Given the description of an element on the screen output the (x, y) to click on. 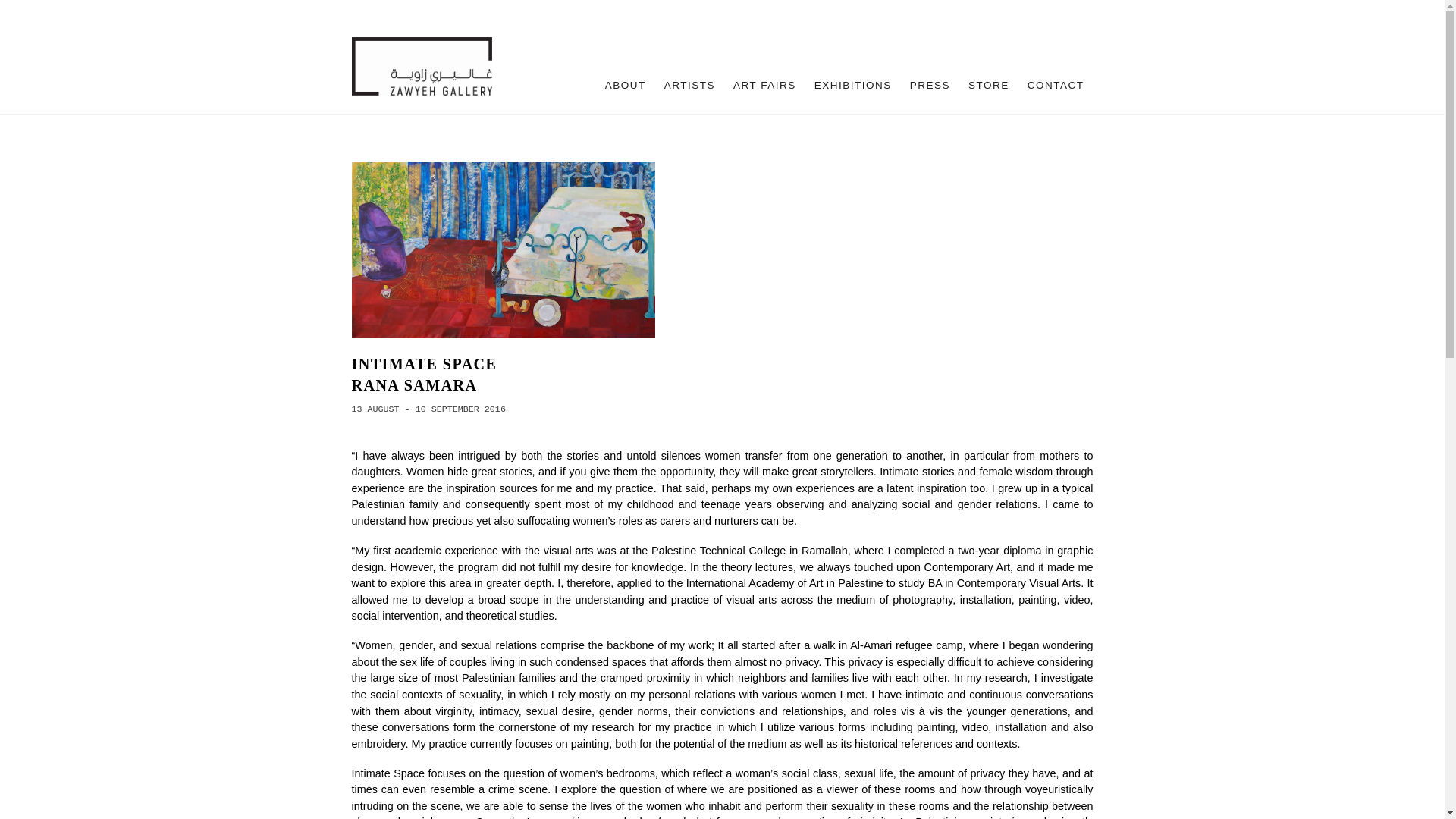
CONTACT (1055, 85)
ABOUT (625, 85)
ART FAIRS (764, 85)
STORE (988, 85)
PRESS (930, 85)
ARTISTS (689, 85)
EXHIBITIONS (853, 85)
